Given the description of an element on the screen output the (x, y) to click on. 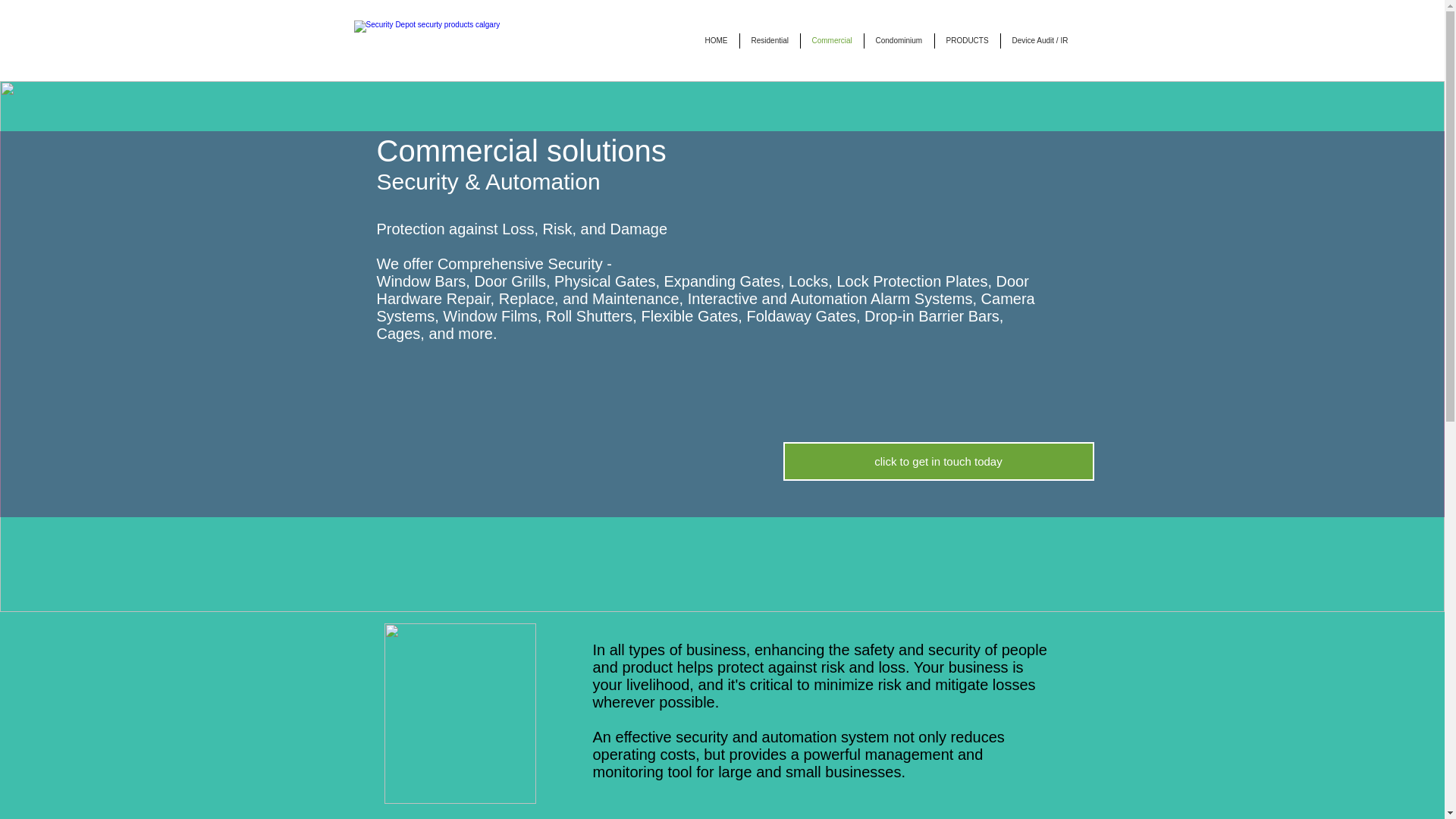
Commercial (831, 40)
Residential (769, 40)
click to get in touch today (938, 461)
Condominium (899, 40)
PRODUCTS (966, 40)
HOME (715, 40)
Security Depot Calgary (493, 39)
